Given the description of an element on the screen output the (x, y) to click on. 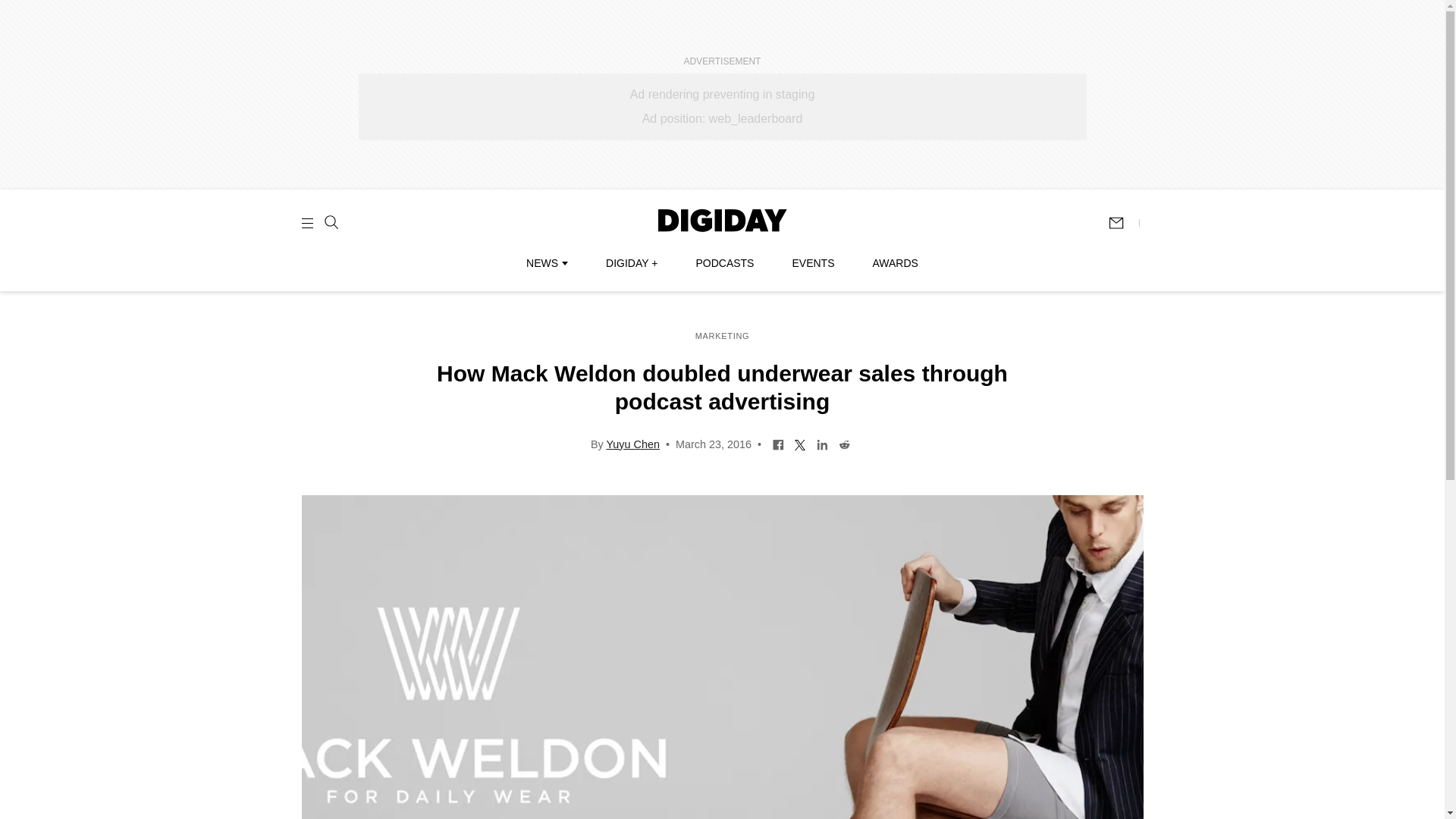
PODCASTS (725, 262)
EVENTS (813, 262)
Share on LinkedIn (821, 443)
Share on Facebook (777, 443)
Share on Reddit (844, 443)
AWARDS (894, 262)
Share on Twitter (799, 443)
Subscribe (1123, 223)
NEWS (546, 262)
